Given the description of an element on the screen output the (x, y) to click on. 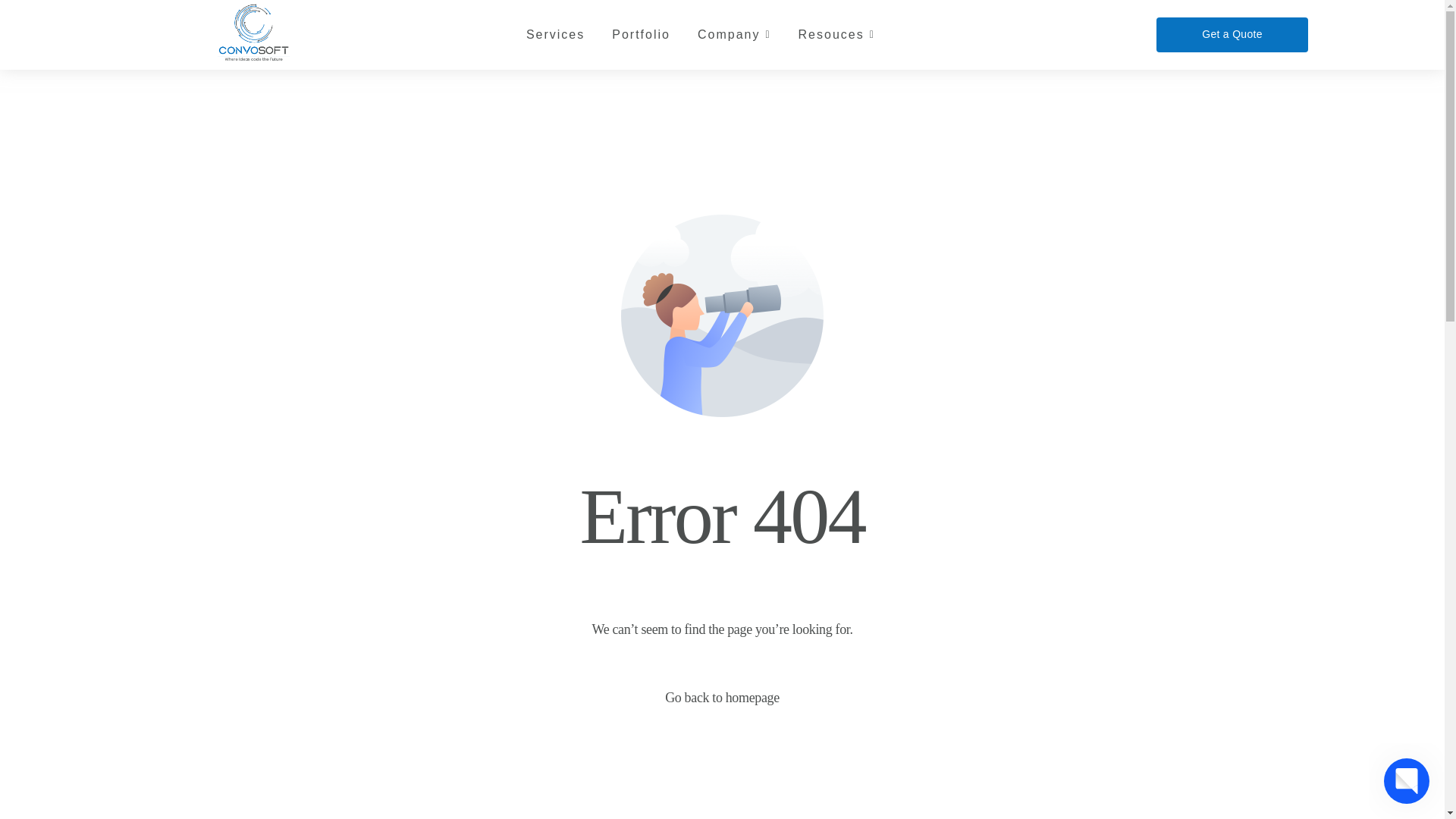
Portfolio (640, 34)
Services (555, 34)
Get a Quote (1231, 34)
Company (734, 34)
Go back to homepage (721, 697)
Resouces (836, 34)
